Given the description of an element on the screen output the (x, y) to click on. 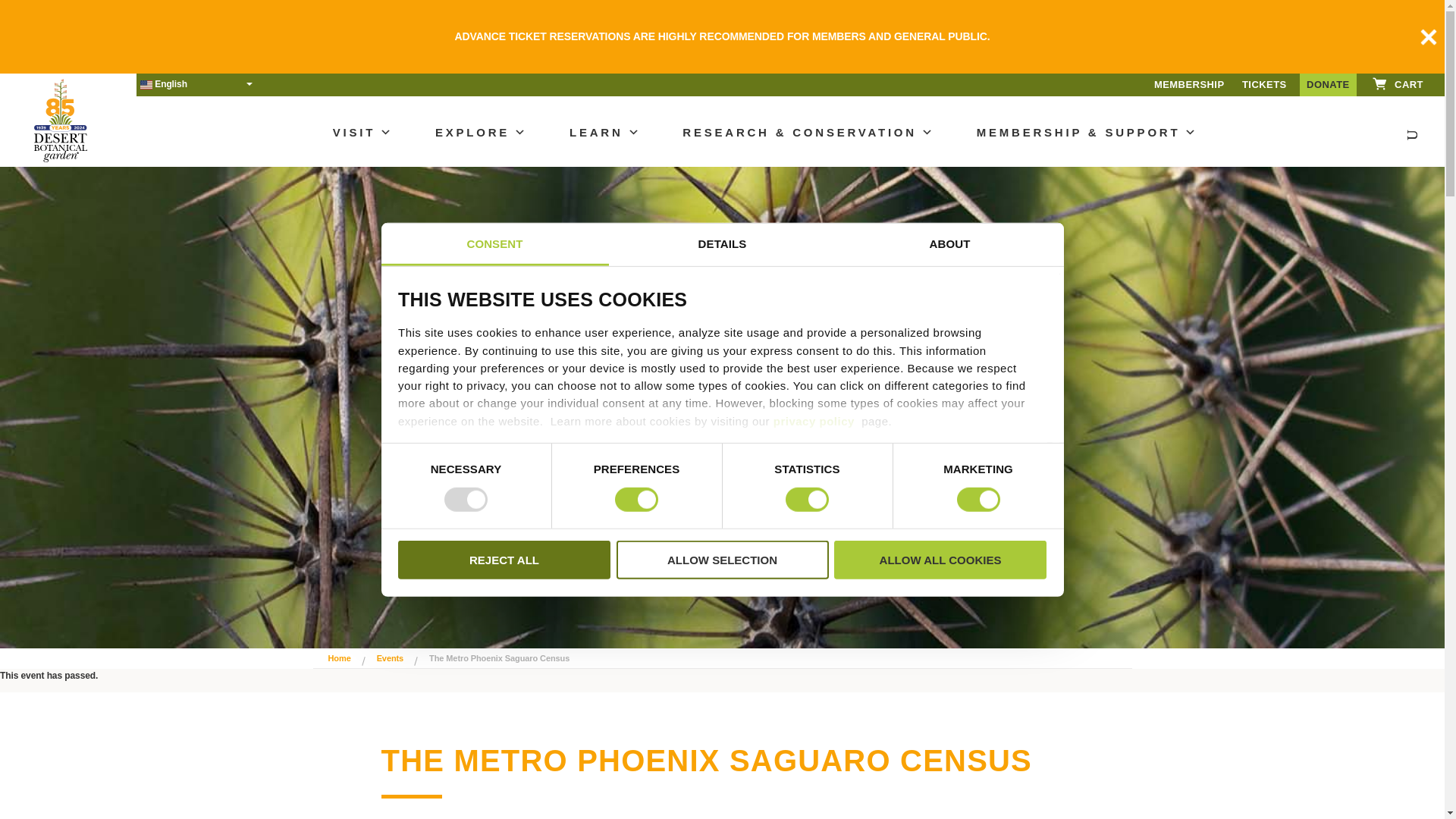
CONSENT (494, 244)
ABOUT (948, 244)
DETAILS (721, 244)
privacy policy (813, 420)
